Given the description of an element on the screen output the (x, y) to click on. 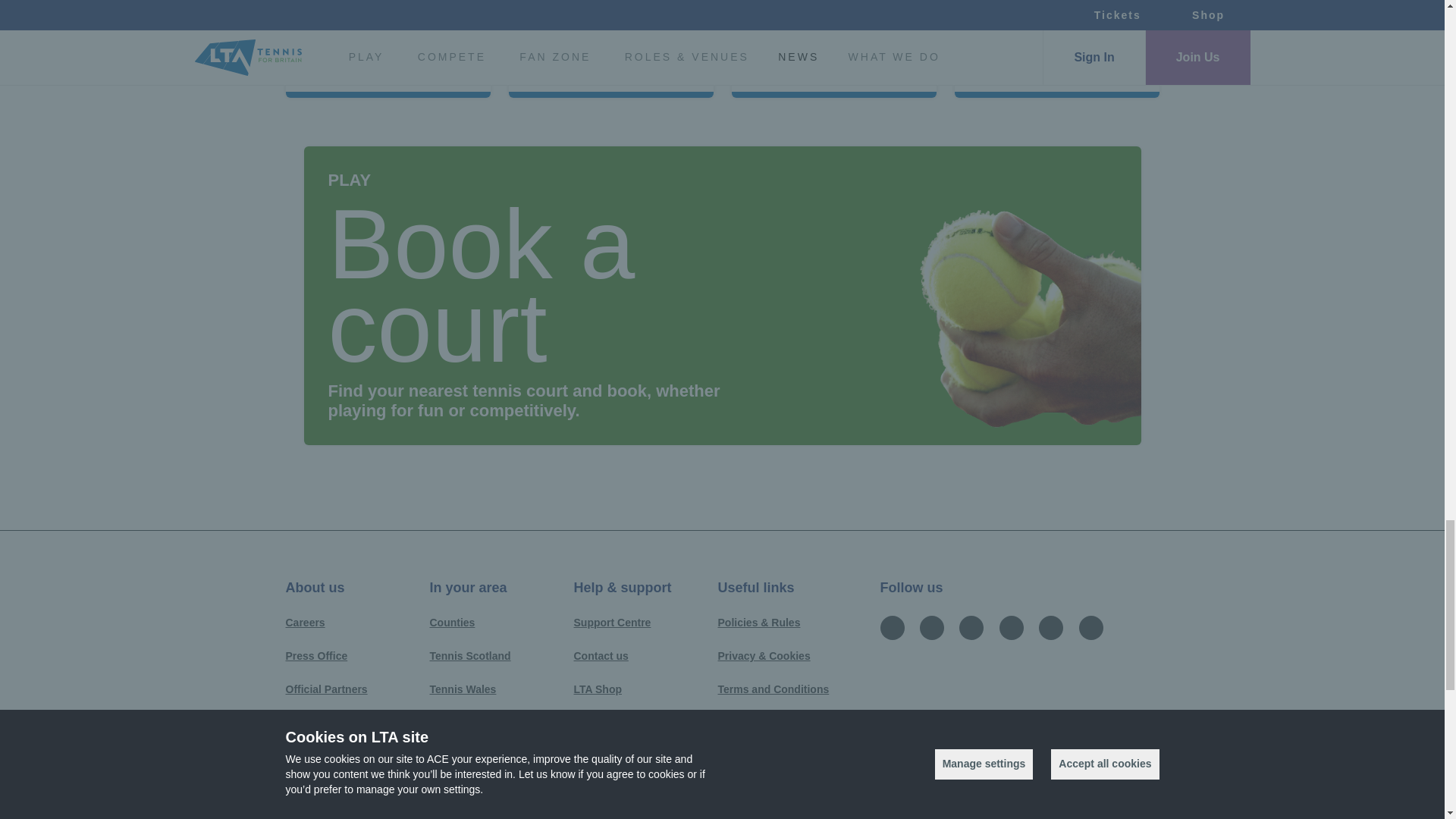
LinkedIn (1090, 627)
Facebook (891, 627)
LinkedIn (1090, 626)
Instagram (931, 627)
YouTube (1010, 627)
TikTok (1050, 627)
YouTube (1010, 626)
LTA Shop (597, 689)
TikTok (1050, 626)
X (971, 627)
X (971, 626)
Facebook (891, 626)
Instagram (931, 626)
